Given the description of an element on the screen output the (x, y) to click on. 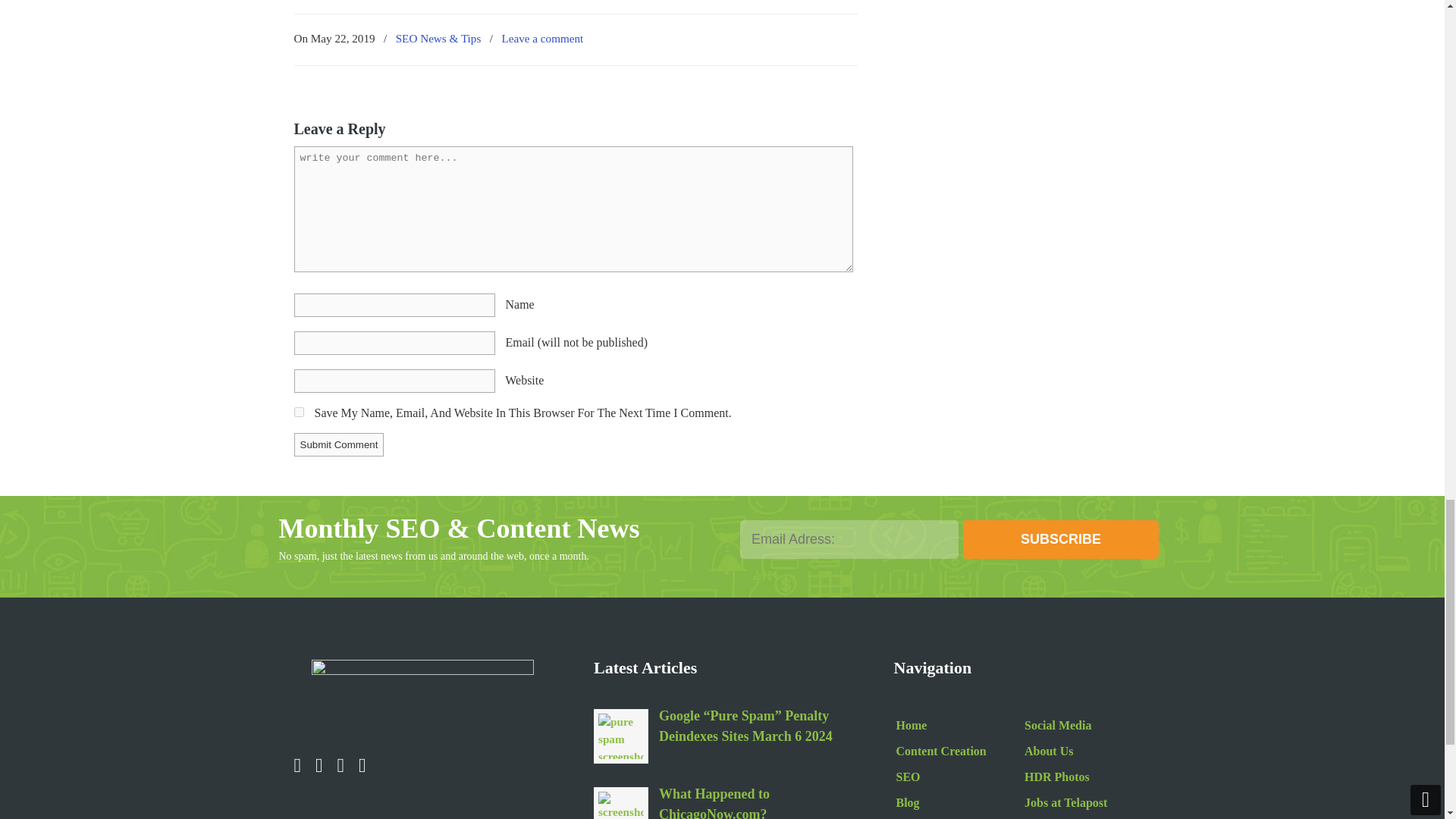
Subscribe (1060, 539)
Submit Comment (339, 444)
What Happened to ChicagoNow.com? (620, 805)
yes (299, 411)
What Happened to ChicagoNow.com? (754, 801)
Submit Comment (339, 444)
Leave a comment (541, 38)
